Given the description of an element on the screen output the (x, y) to click on. 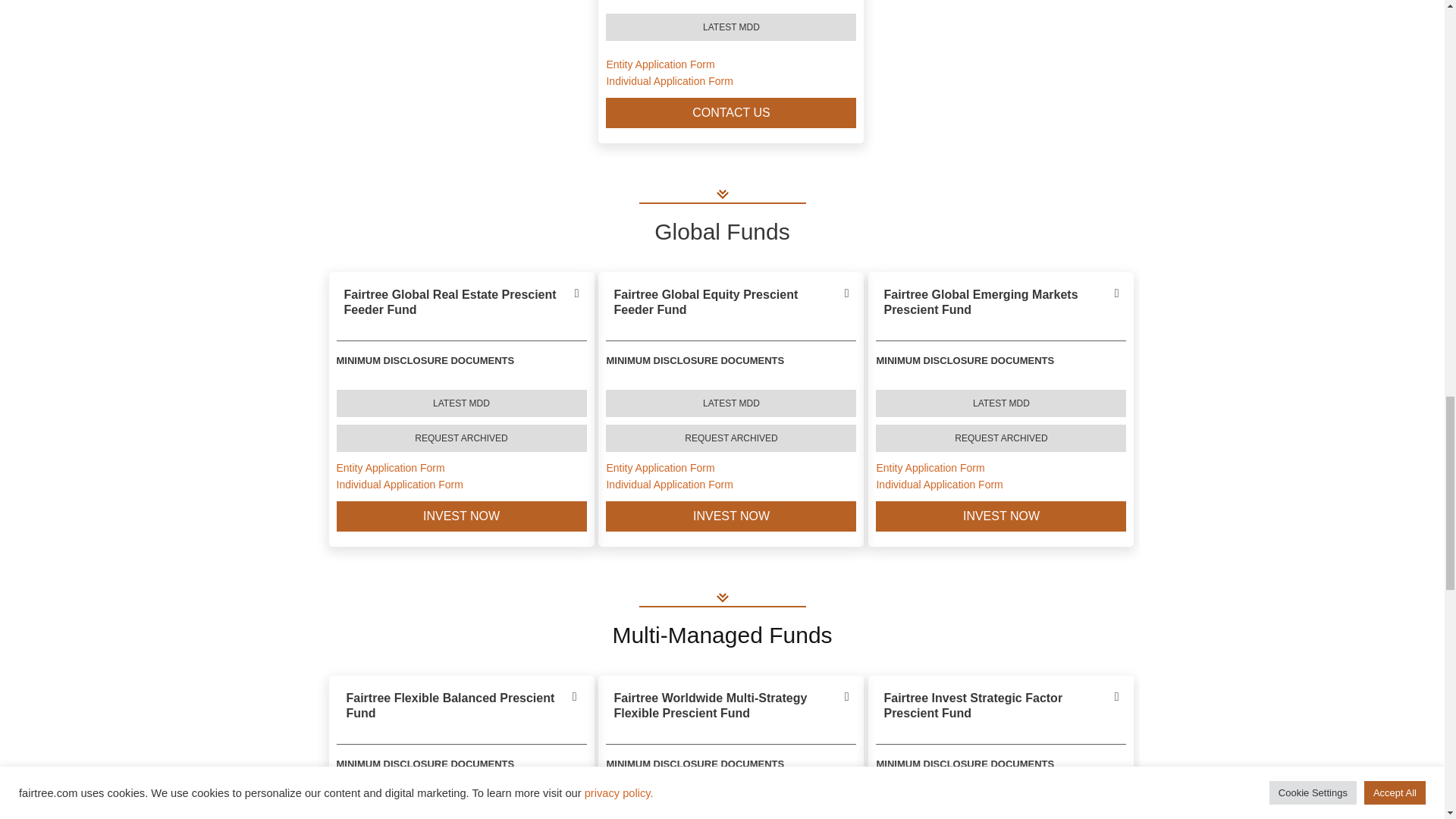
fairtree icon (721, 193)
fairtree icon (721, 596)
